Given the description of an element on the screen output the (x, y) to click on. 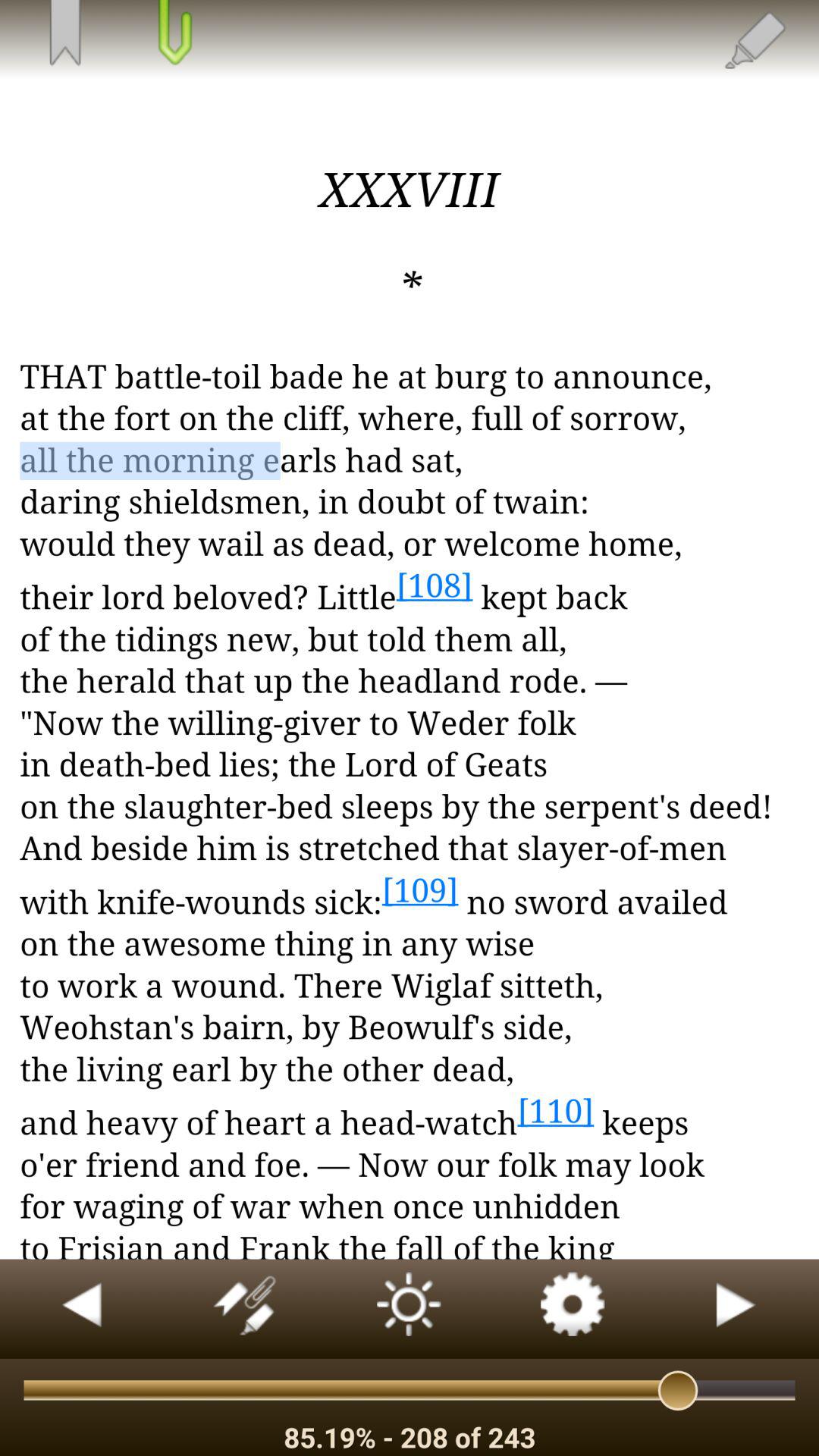
file option (172, 34)
